Given the description of an element on the screen output the (x, y) to click on. 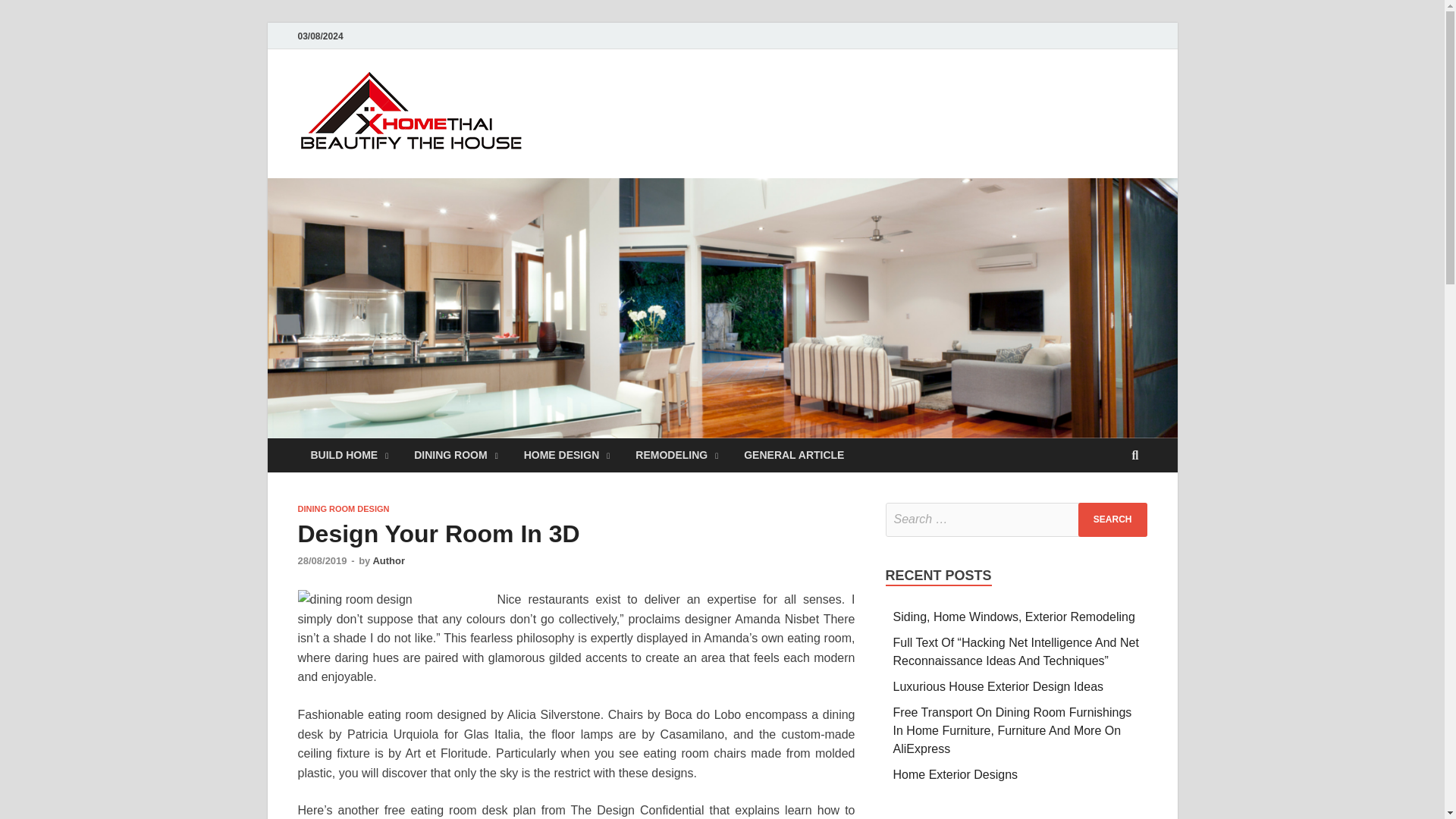
DINING ROOM (456, 455)
BUILD HOME (349, 455)
REMODELING (676, 455)
HOME DESIGN (567, 455)
Search (1112, 519)
Search (1112, 519)
homethai.net (621, 100)
GENERAL ARTICLE (793, 455)
